Given the description of an element on the screen output the (x, y) to click on. 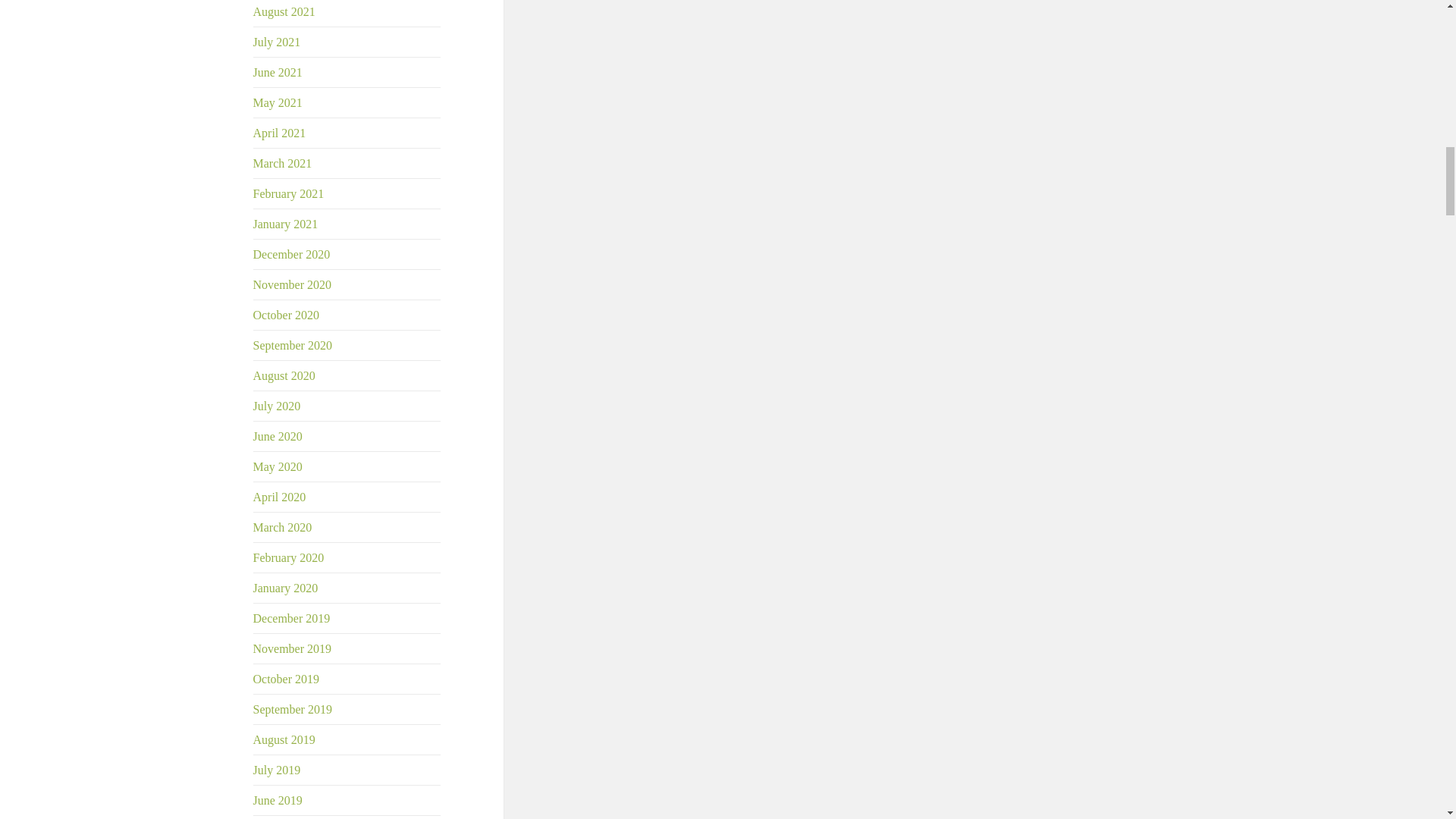
November 2020 (292, 284)
August 2021 (284, 11)
April 2021 (279, 132)
January 2021 (285, 223)
May 2021 (277, 102)
July 2021 (277, 42)
October 2020 (286, 314)
December 2020 (291, 254)
February 2021 (288, 193)
March 2021 (283, 163)
